Given the description of an element on the screen output the (x, y) to click on. 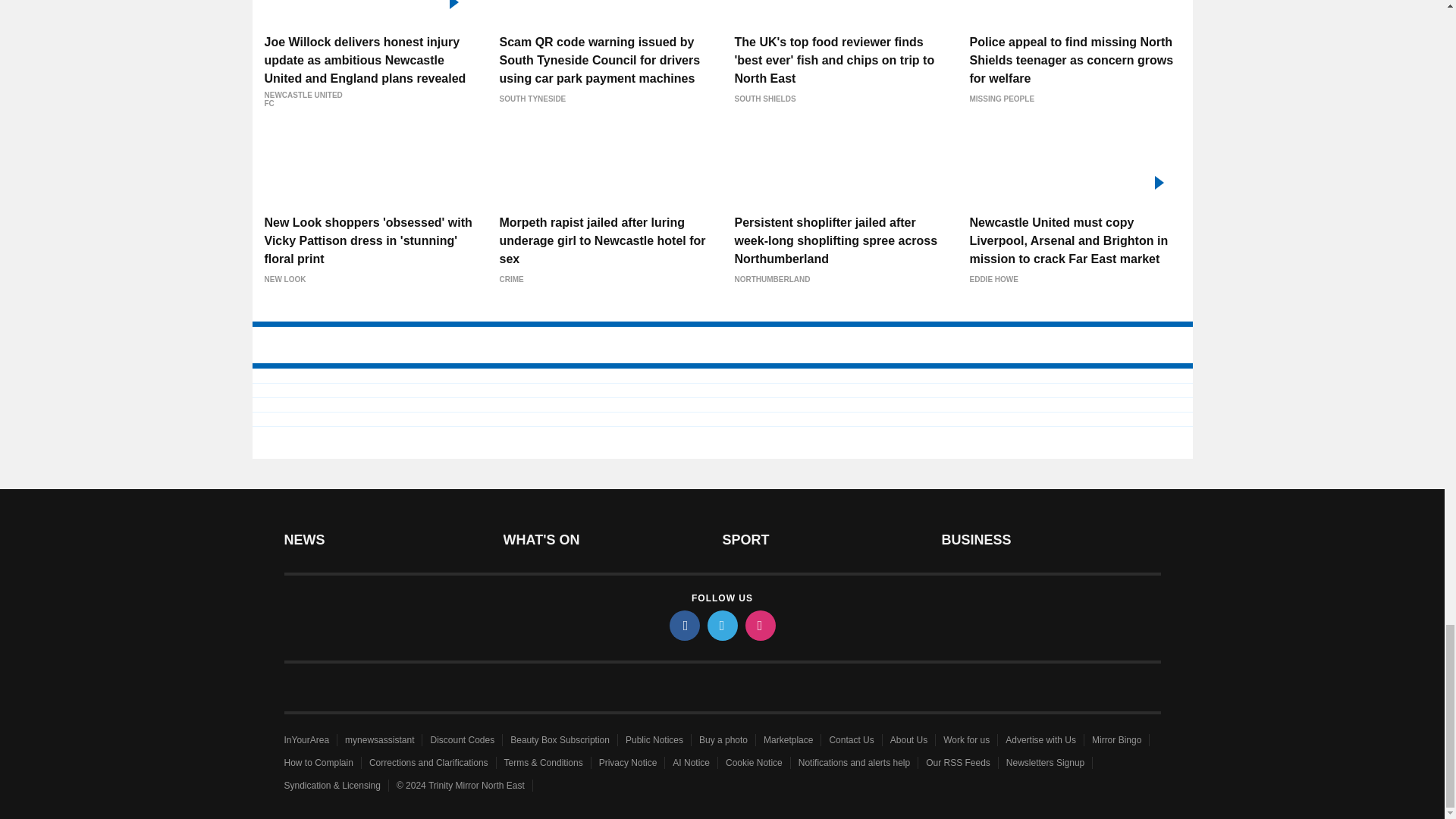
facebook (683, 625)
twitter (721, 625)
instagram (759, 625)
